Given the description of an element on the screen output the (x, y) to click on. 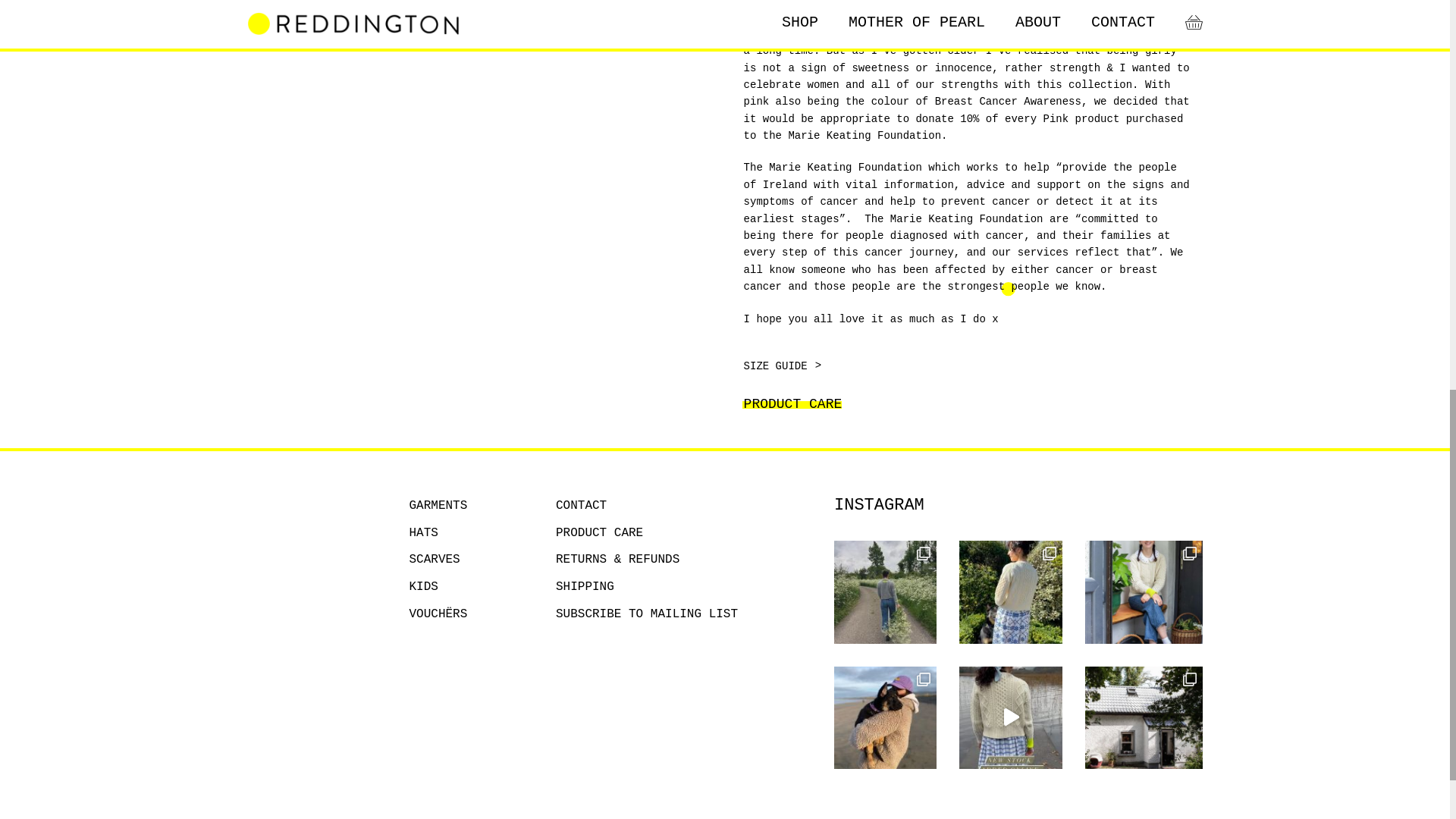
HATS (423, 533)
PRODUCT CARE (798, 404)
SCARVES (434, 560)
Size guide (778, 365)
SHIPPING (585, 587)
KIDS (423, 587)
GARMENTS (438, 506)
PRODUCT CARE (599, 533)
CONTACT (581, 506)
